Given the description of an element on the screen output the (x, y) to click on. 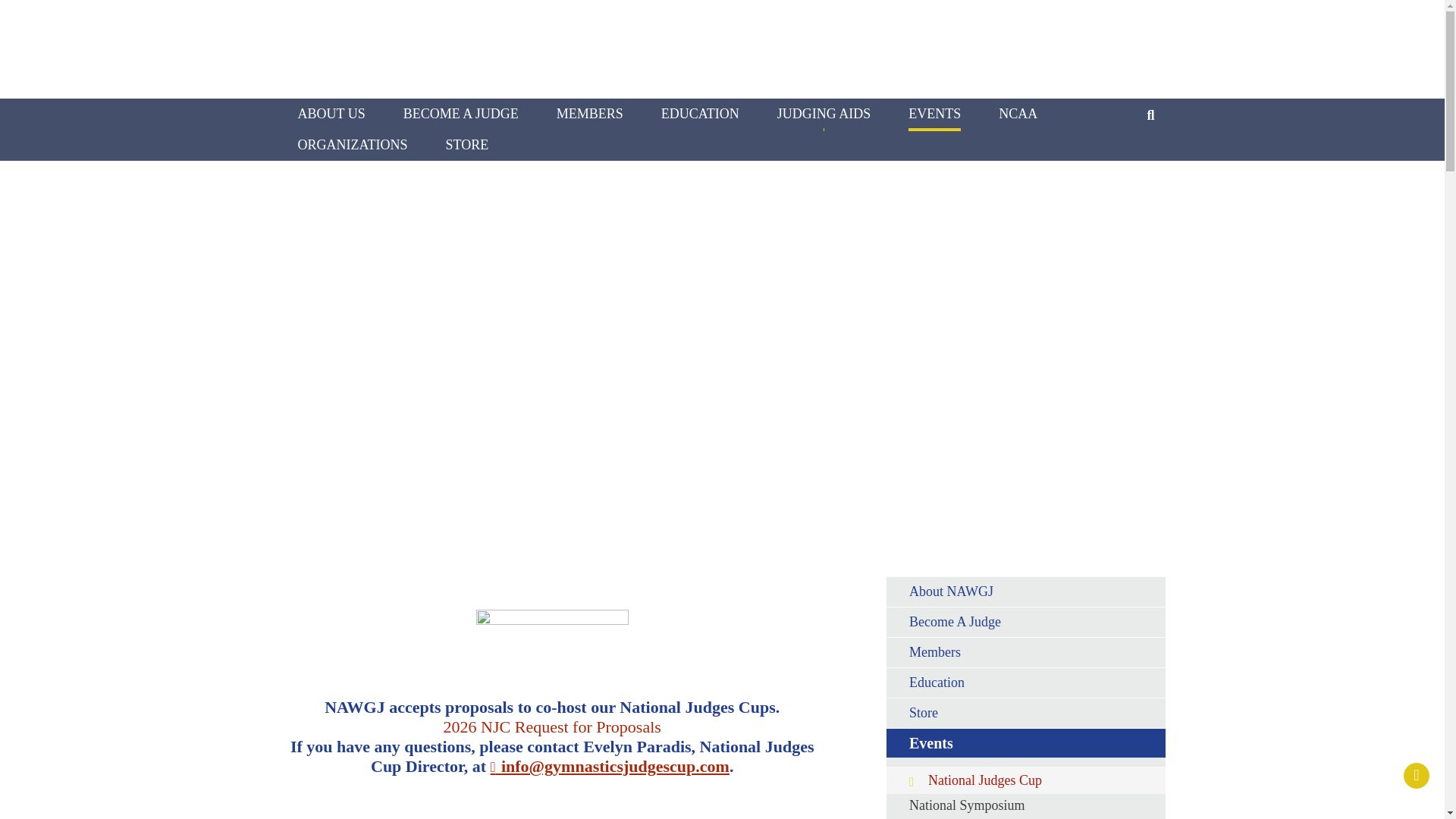
MEMBERS (589, 113)
BECOME A JUDGE (460, 113)
ABOUT US (331, 113)
Scroll Top (1416, 775)
JUDGING AIDS (823, 113)
EDUCATION (700, 113)
